Given the description of an element on the screen output the (x, y) to click on. 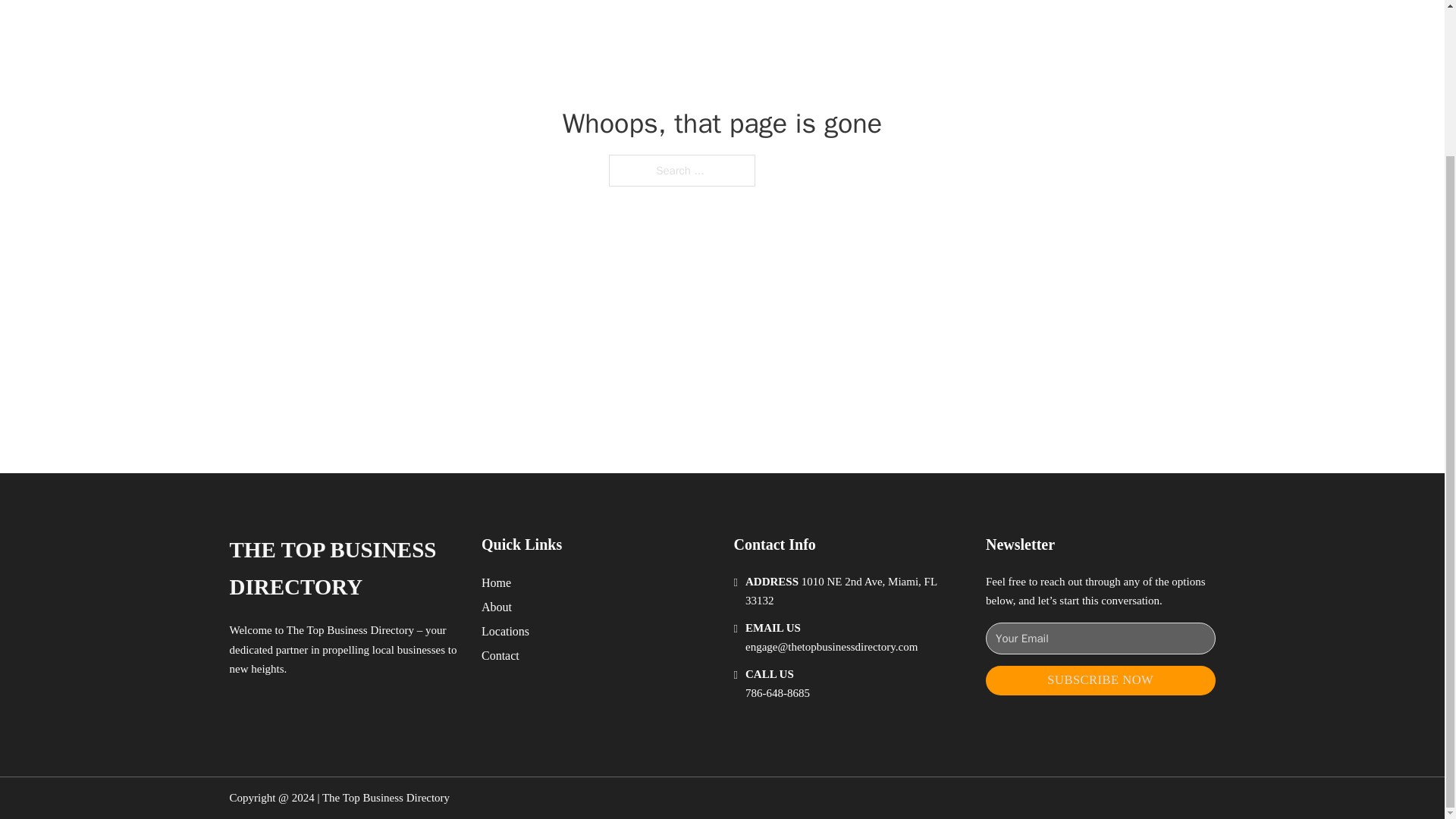
Home (496, 582)
786-648-8685 (777, 693)
SUBSCRIBE NOW (1100, 680)
About (496, 607)
Contact (500, 655)
Locations (505, 630)
THE TOP BUSINESS DIRECTORY (343, 568)
